Given the description of an element on the screen output the (x, y) to click on. 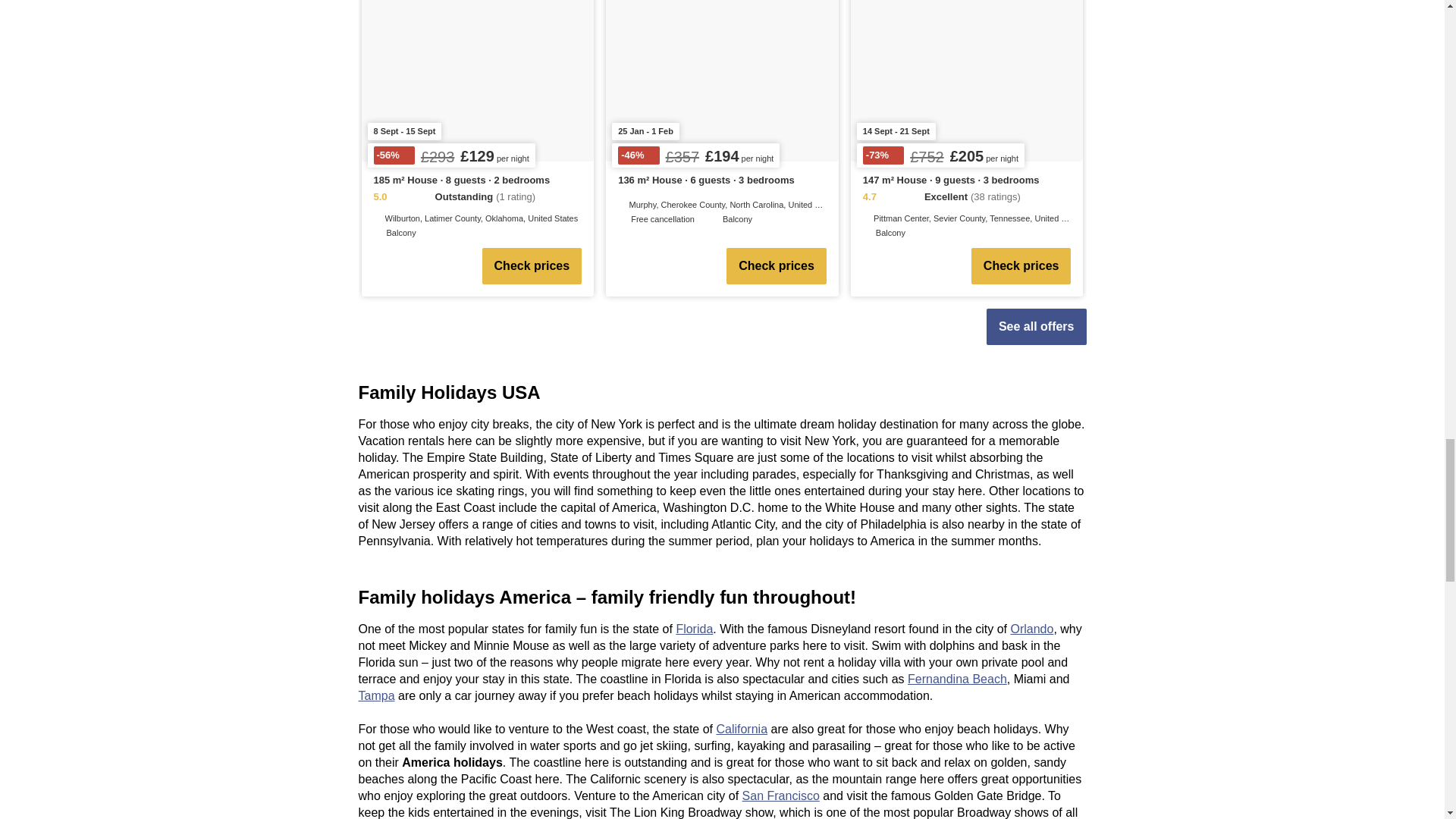
San Francisco (780, 795)
Fernandina Beach (957, 678)
California (741, 728)
Florida (694, 628)
Tampa (376, 695)
Orlando (1031, 628)
